Given the description of an element on the screen output the (x, y) to click on. 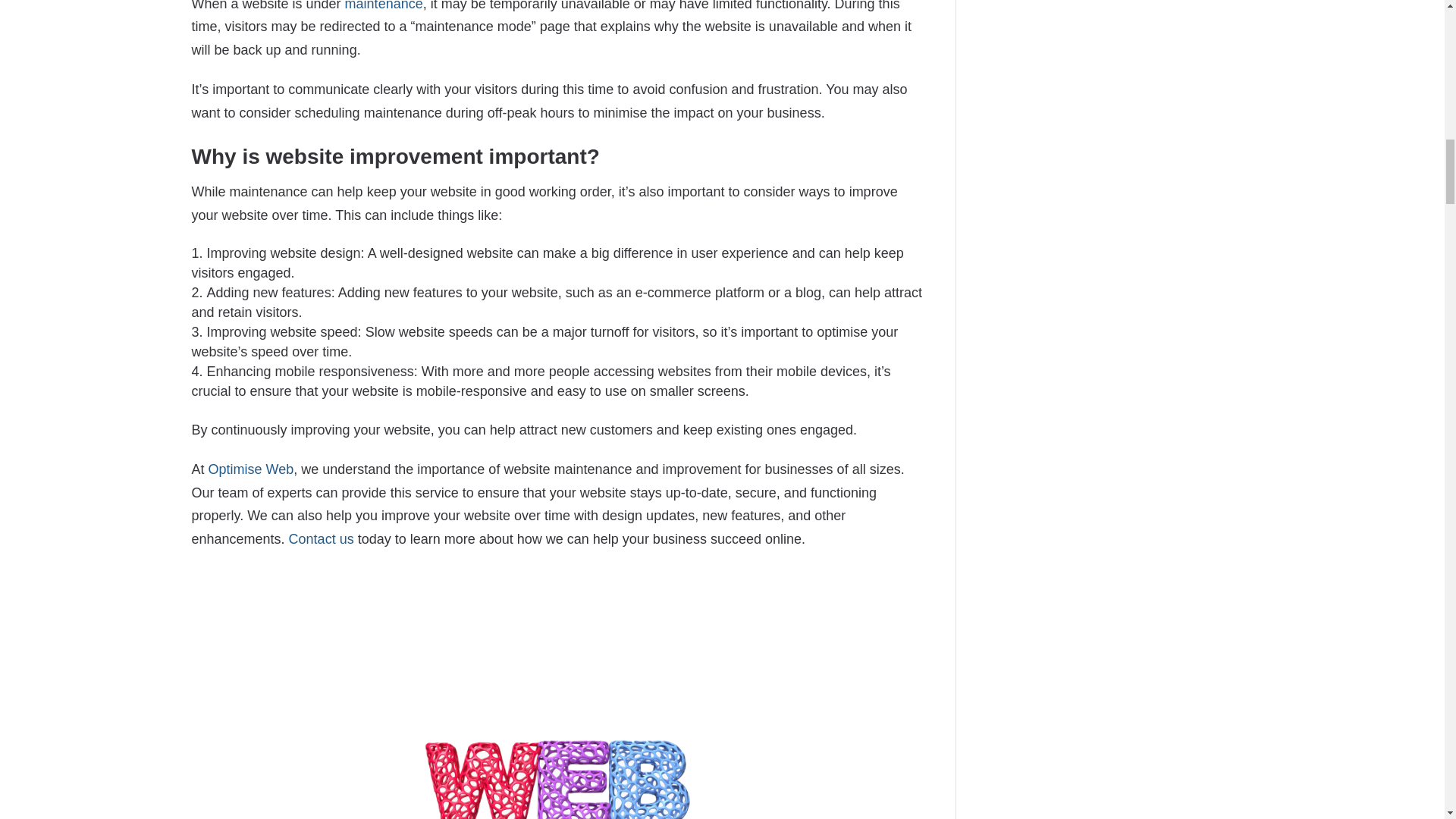
Contact us (320, 539)
maintenance (384, 5)
Optimise Web (251, 468)
